Given the description of an element on the screen output the (x, y) to click on. 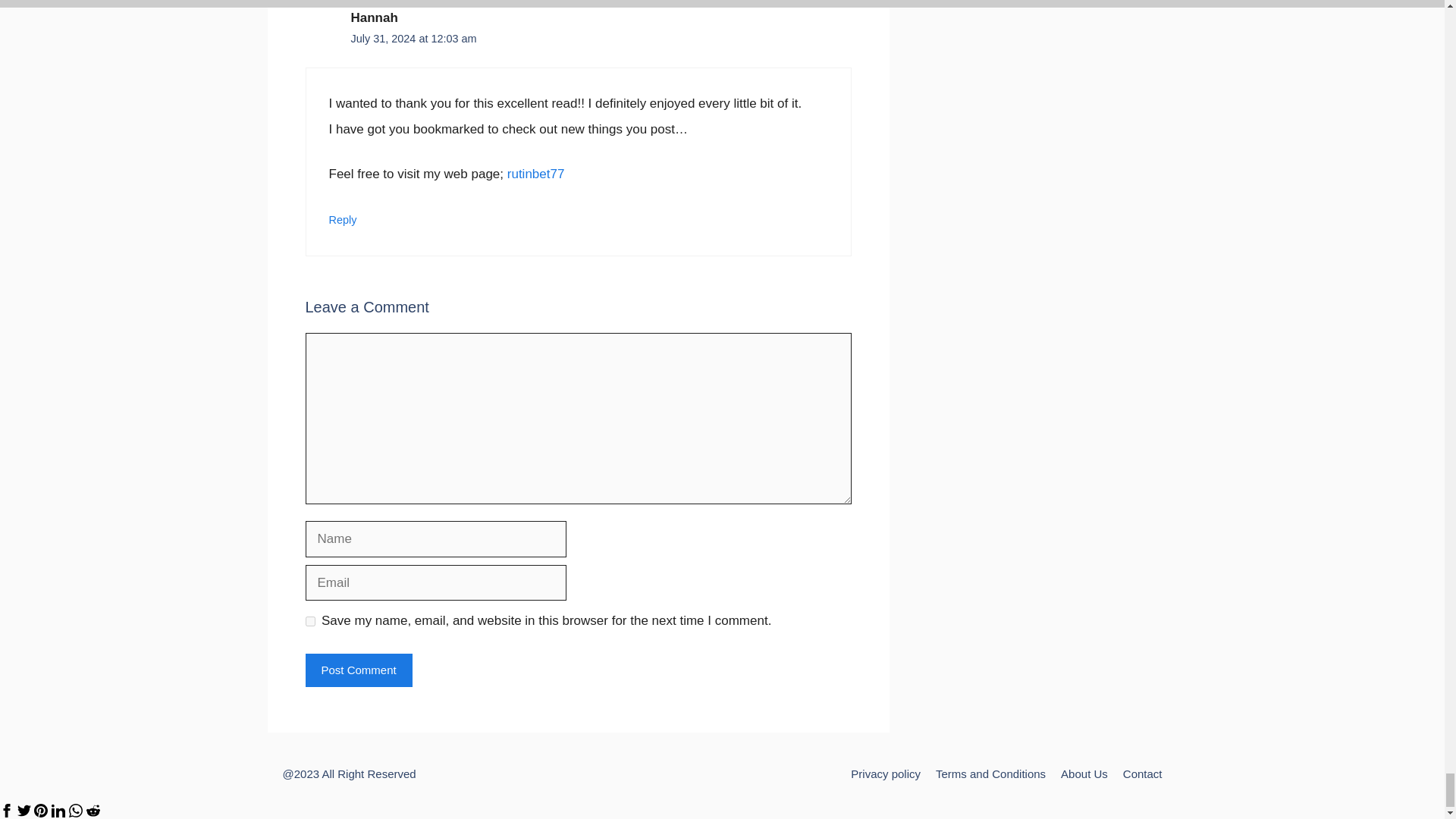
yes (309, 621)
Post Comment (358, 670)
